Given the description of an element on the screen output the (x, y) to click on. 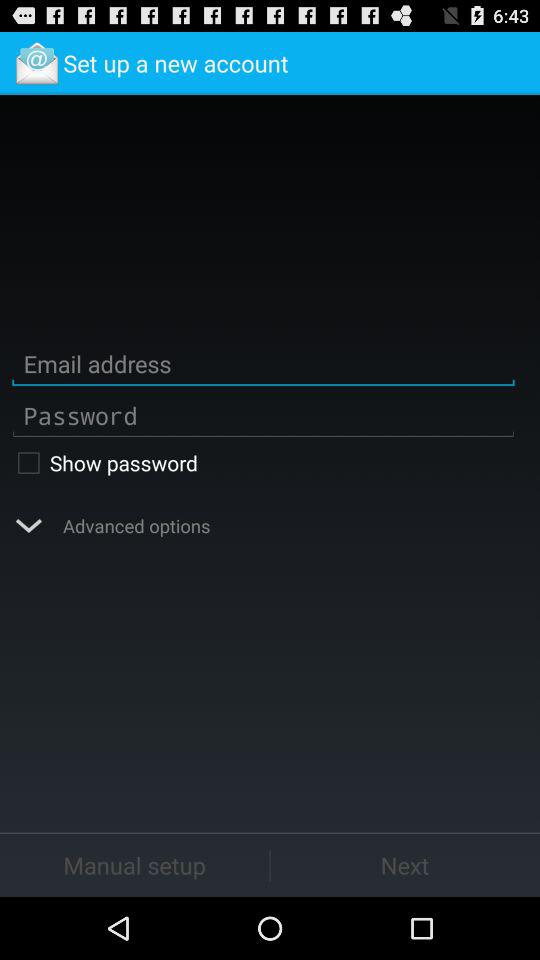
enter email address (263, 364)
